Given the description of an element on the screen output the (x, y) to click on. 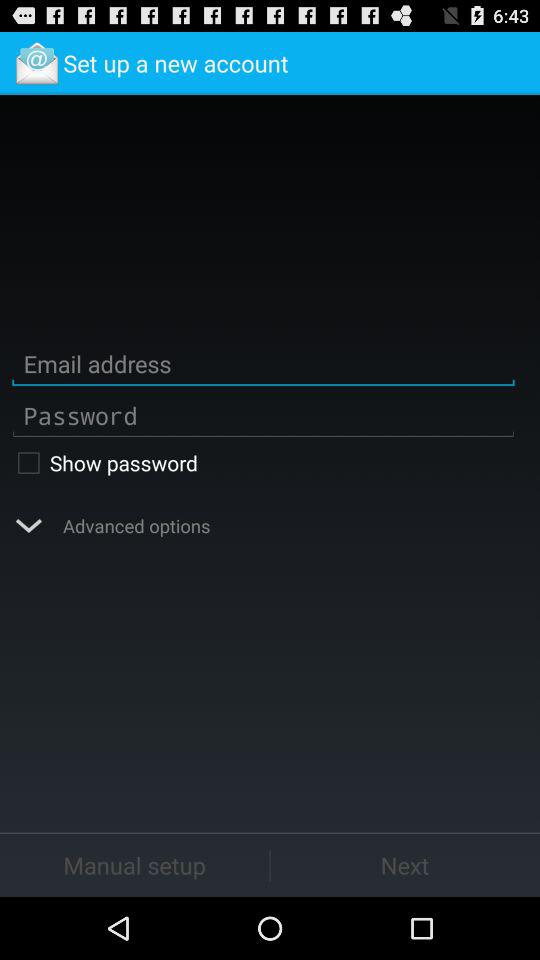
enter email address (263, 364)
